Given the description of an element on the screen output the (x, y) to click on. 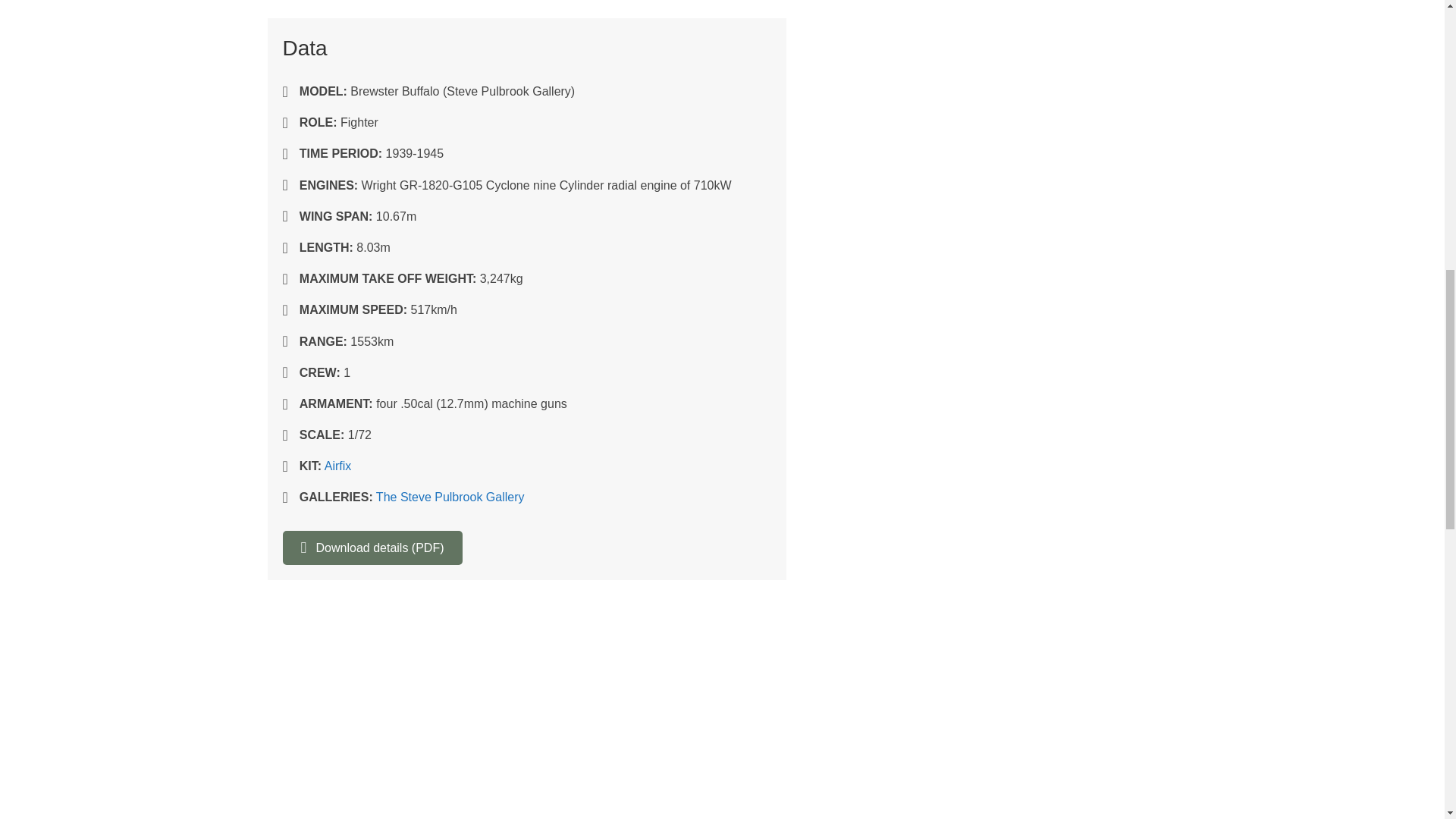
Airfix (338, 465)
The Steve Pulbrook Gallery (449, 496)
